Given the description of an element on the screen output the (x, y) to click on. 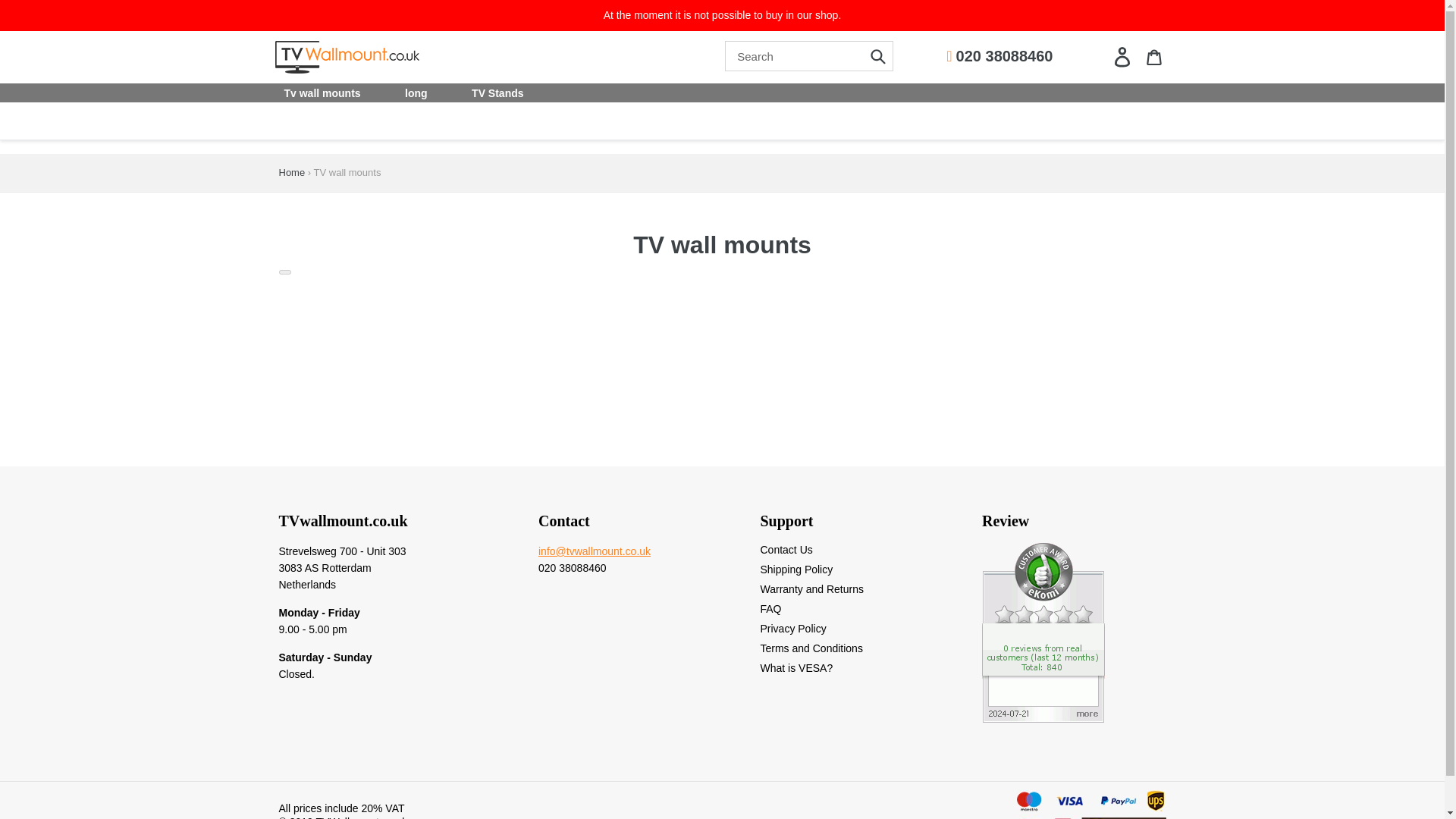
long (416, 93)
Privacy Policy (792, 628)
Home (292, 172)
020 38088460 (999, 55)
TV Stands (497, 93)
Terms and Conditions (810, 648)
What is VESA? (796, 667)
Contact Us (786, 549)
Tv wall mounts (322, 93)
Customer review:  (1043, 717)
Warranty and Returns (811, 589)
Home (292, 172)
FAQ (770, 608)
Log in (1121, 56)
Cart (1153, 56)
